Given the description of an element on the screen output the (x, y) to click on. 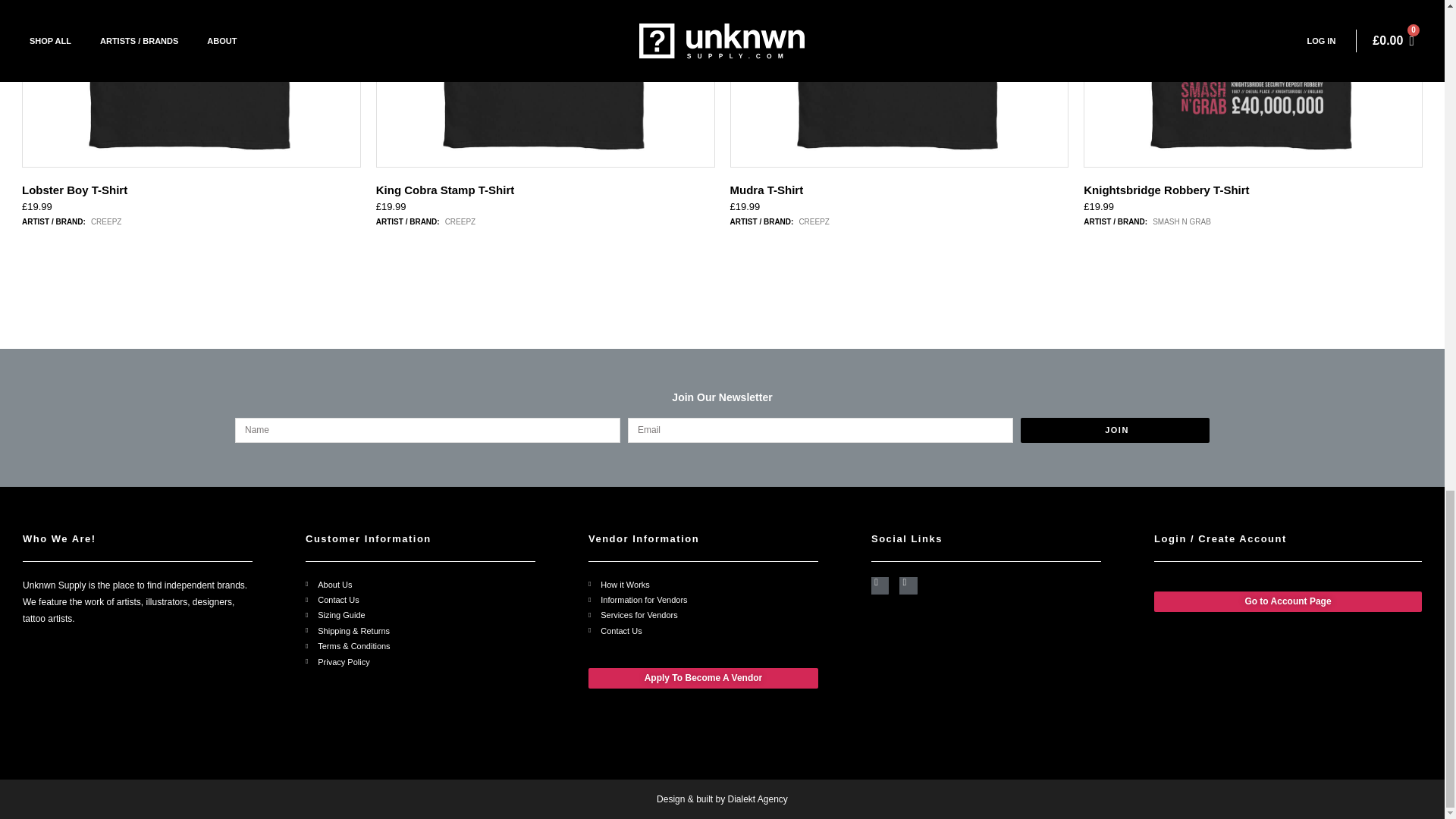
King Cobra Stamp T-Shirt (545, 83)
Mudra T-Shirt (899, 83)
Lobster Boy T-Shirt (191, 83)
Knightsbridge Robbery T-Shirt (1253, 83)
